Given the description of an element on the screen output the (x, y) to click on. 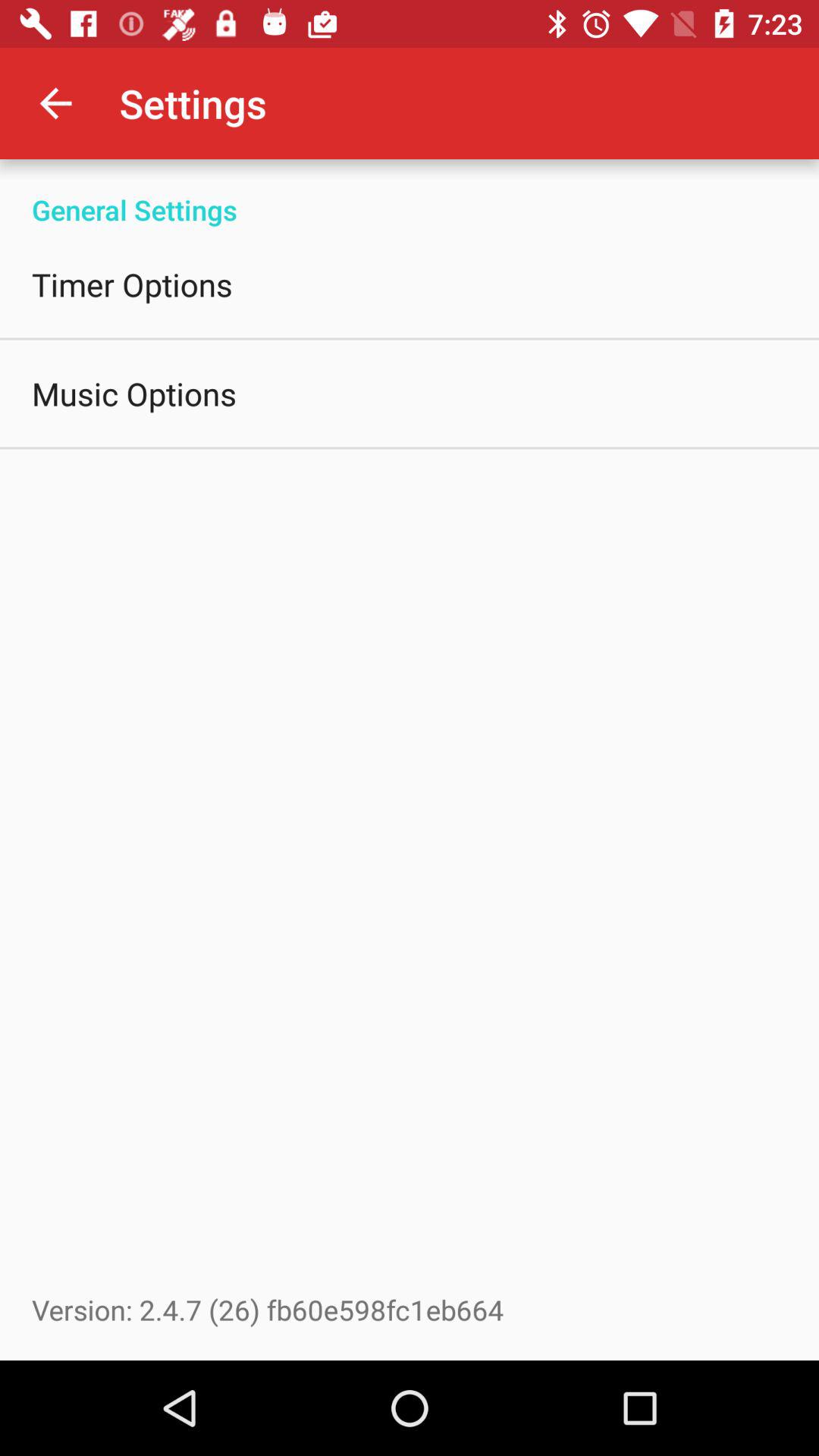
press the icon below the general settings item (131, 283)
